Given the description of an element on the screen output the (x, y) to click on. 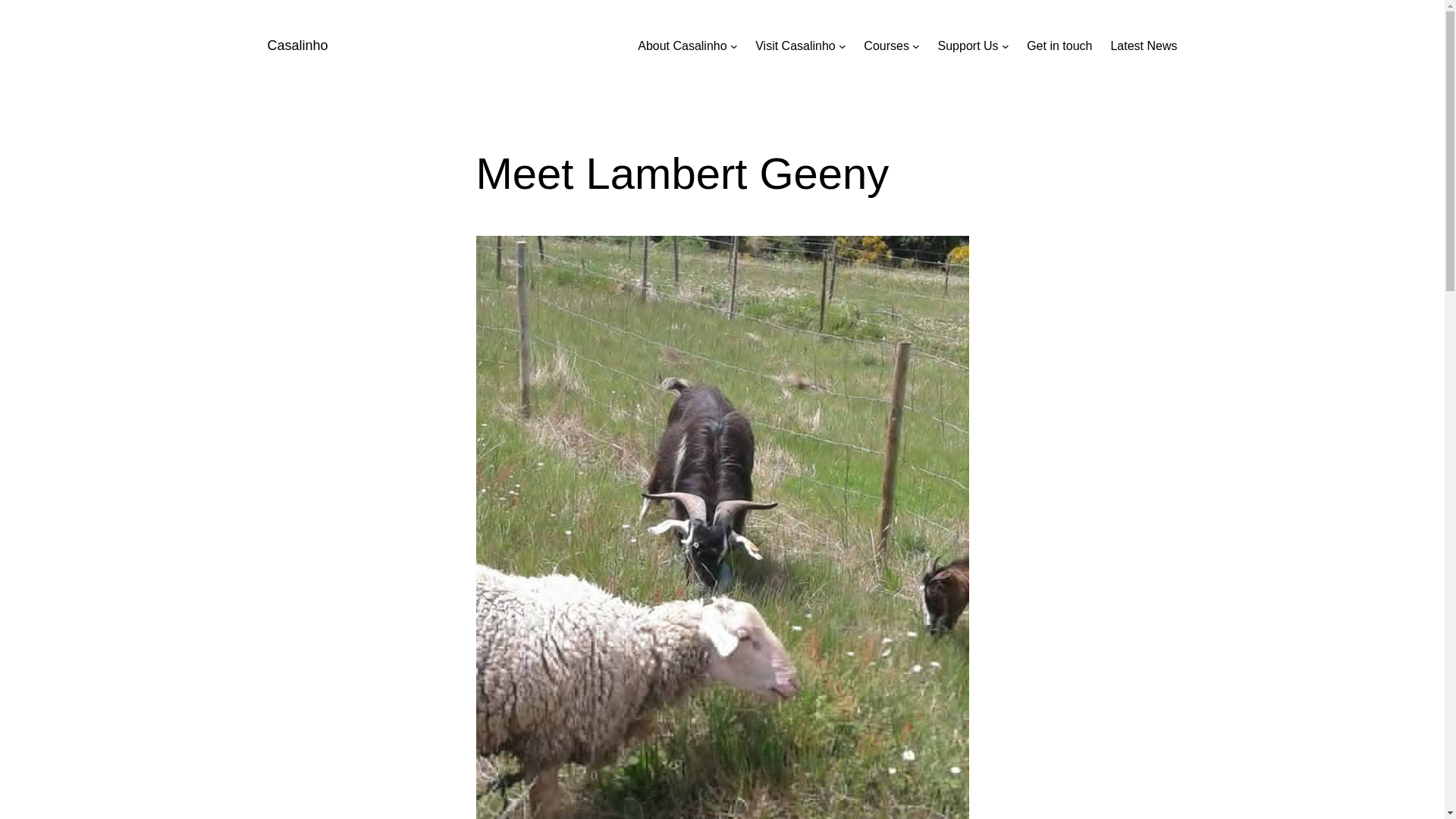
Latest News (1142, 46)
Visit Casalinho (795, 46)
Casalinho (296, 45)
Get in touch (1059, 46)
About Casalinho (681, 46)
Courses (885, 46)
Support Us (967, 46)
